Given the description of an element on the screen output the (x, y) to click on. 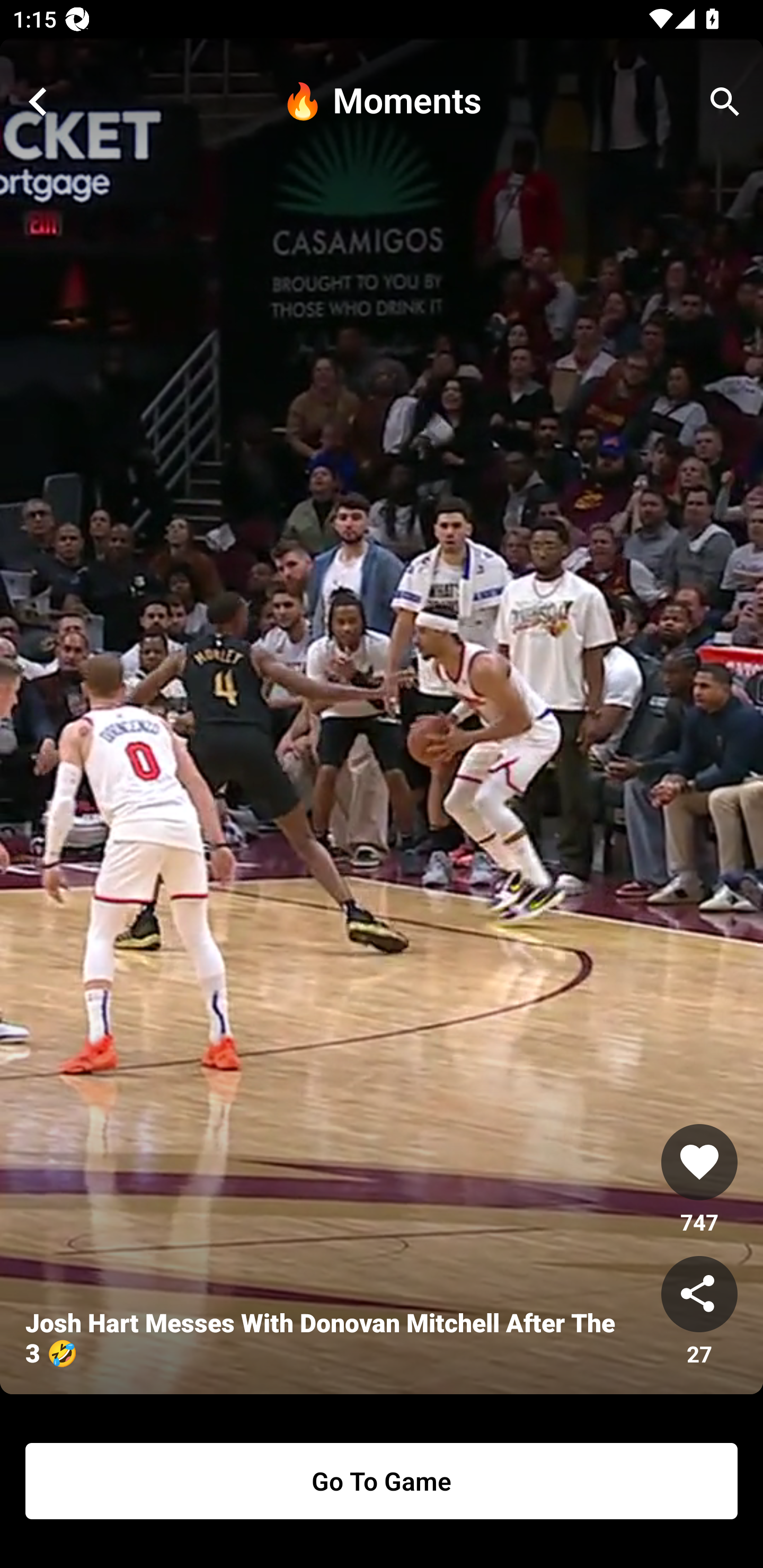
close (38, 101)
search (724, 101)
like 747 747 Likes (699, 1180)
share 27 27 Shares (699, 1311)
Go To Game (381, 1480)
